Given the description of an element on the screen output the (x, y) to click on. 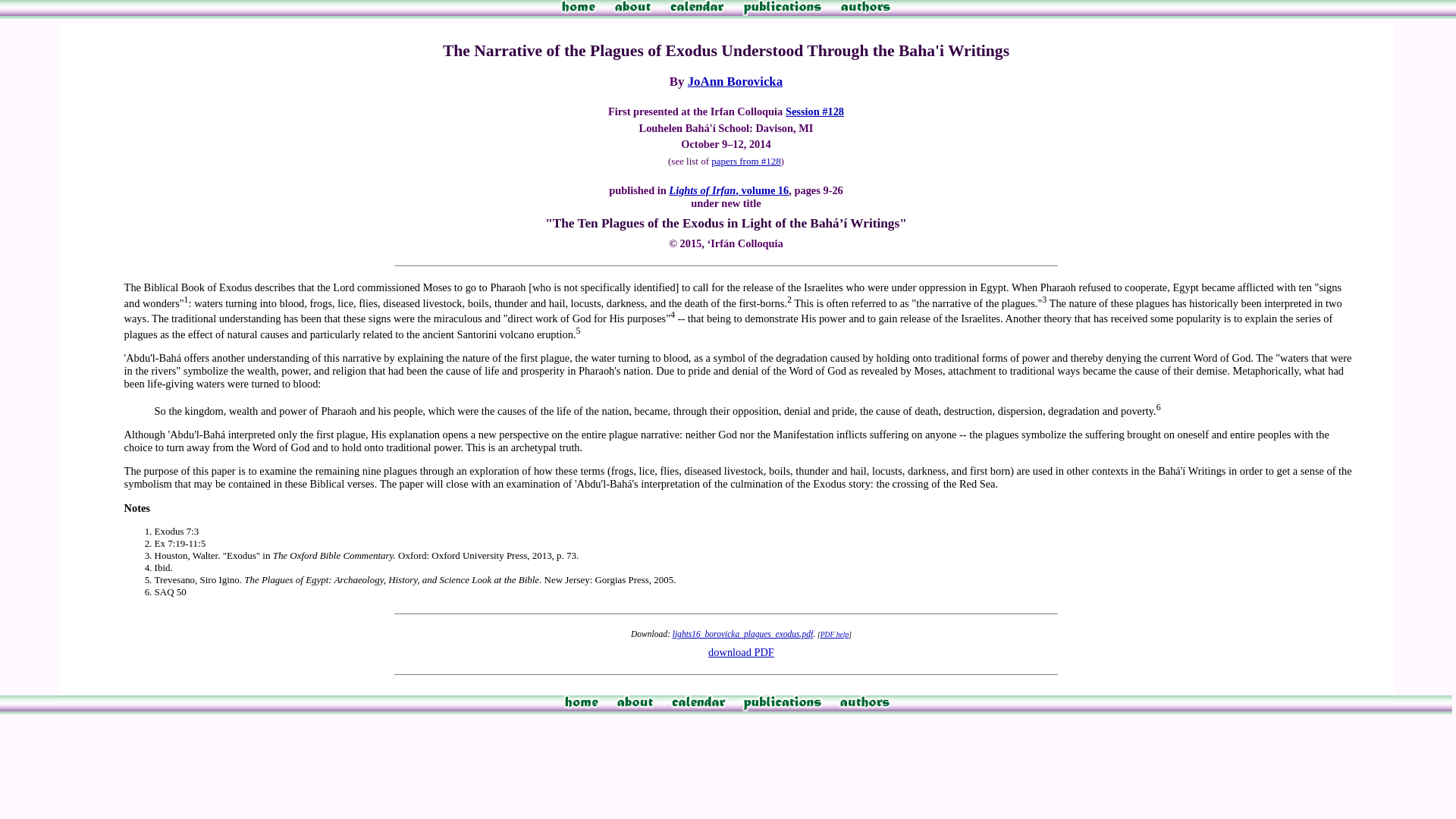
download PDF (740, 652)
Lights of Irfan, volume 16 (728, 189)
PDF help (834, 633)
JoAnn Borovicka (735, 81)
